Given the description of an element on the screen output the (x, y) to click on. 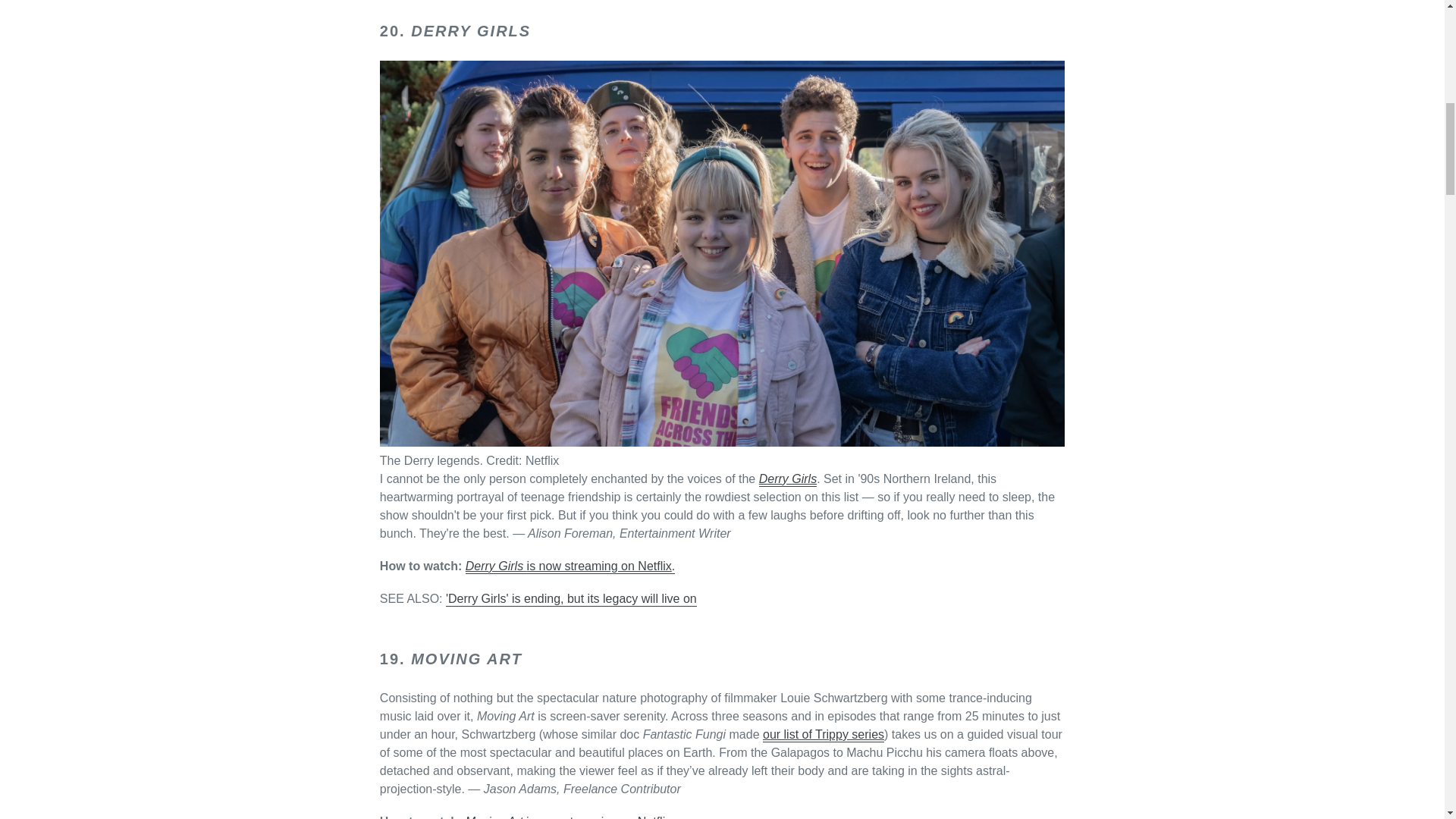
Derry Girls is now streaming on Netflix. (570, 566)
our list of Trippy series (822, 735)
Derry Girls (787, 479)
Moving Art is now streaming on Netflix. (570, 816)
'Derry Girls' is ending, but its legacy will live on (571, 599)
